Given the description of an element on the screen output the (x, y) to click on. 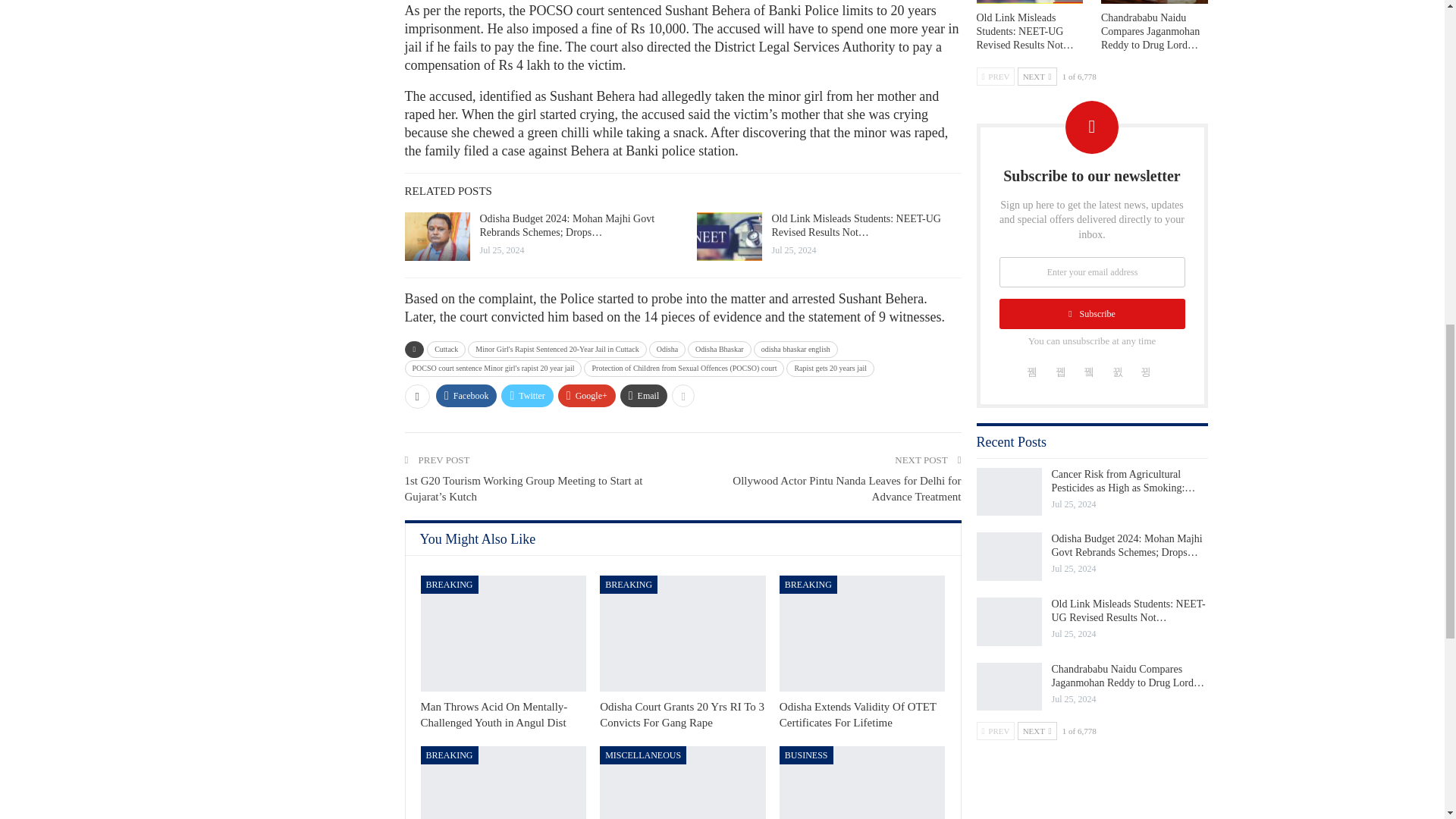
Odisha Extends Validity Of OTET Certificates For Lifetime (857, 714)
Odisha Court Grants 20 Yrs RI To 3 Convicts For Gang Rape (681, 714)
Man Throws Acid On Mentally-Challenged Youth in Angul Dist (503, 633)
Suspicious Mini-Plane Like Drone Recovered From Dhenkanal (503, 782)
Man Throws Acid On Mentally-Challenged Youth in Angul Dist (493, 714)
Odisha Extends Validity Of OTET Certificates For Lifetime (861, 633)
Odisha Court Grants 20 Yrs RI To 3 Convicts For Gang Rape (682, 633)
Petrol, Diesel Price Update: Check Rates In Odisha On May 12 (861, 782)
